Given the description of an element on the screen output the (x, y) to click on. 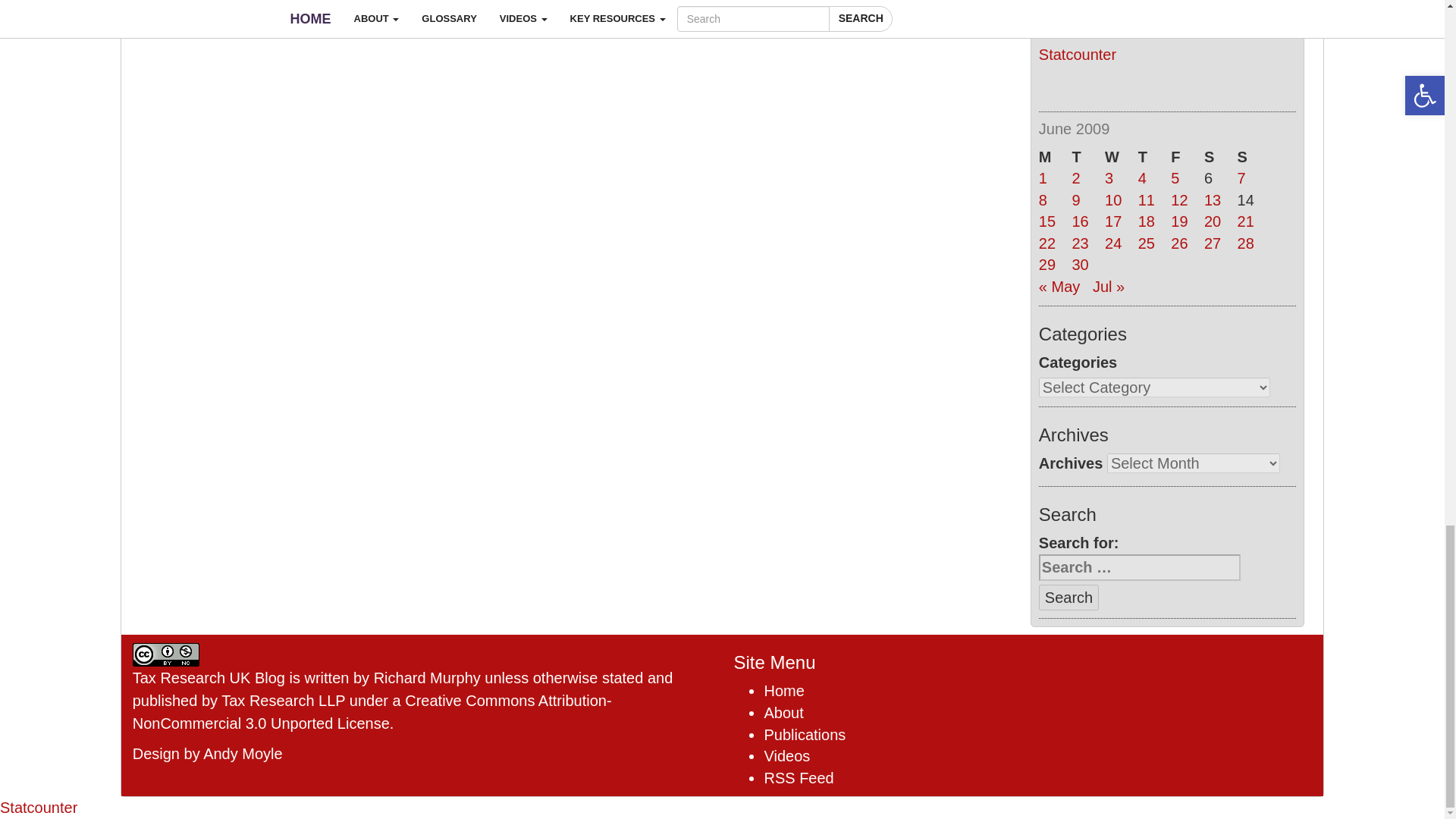
Search (1069, 596)
Search (1069, 596)
